Given the description of an element on the screen output the (x, y) to click on. 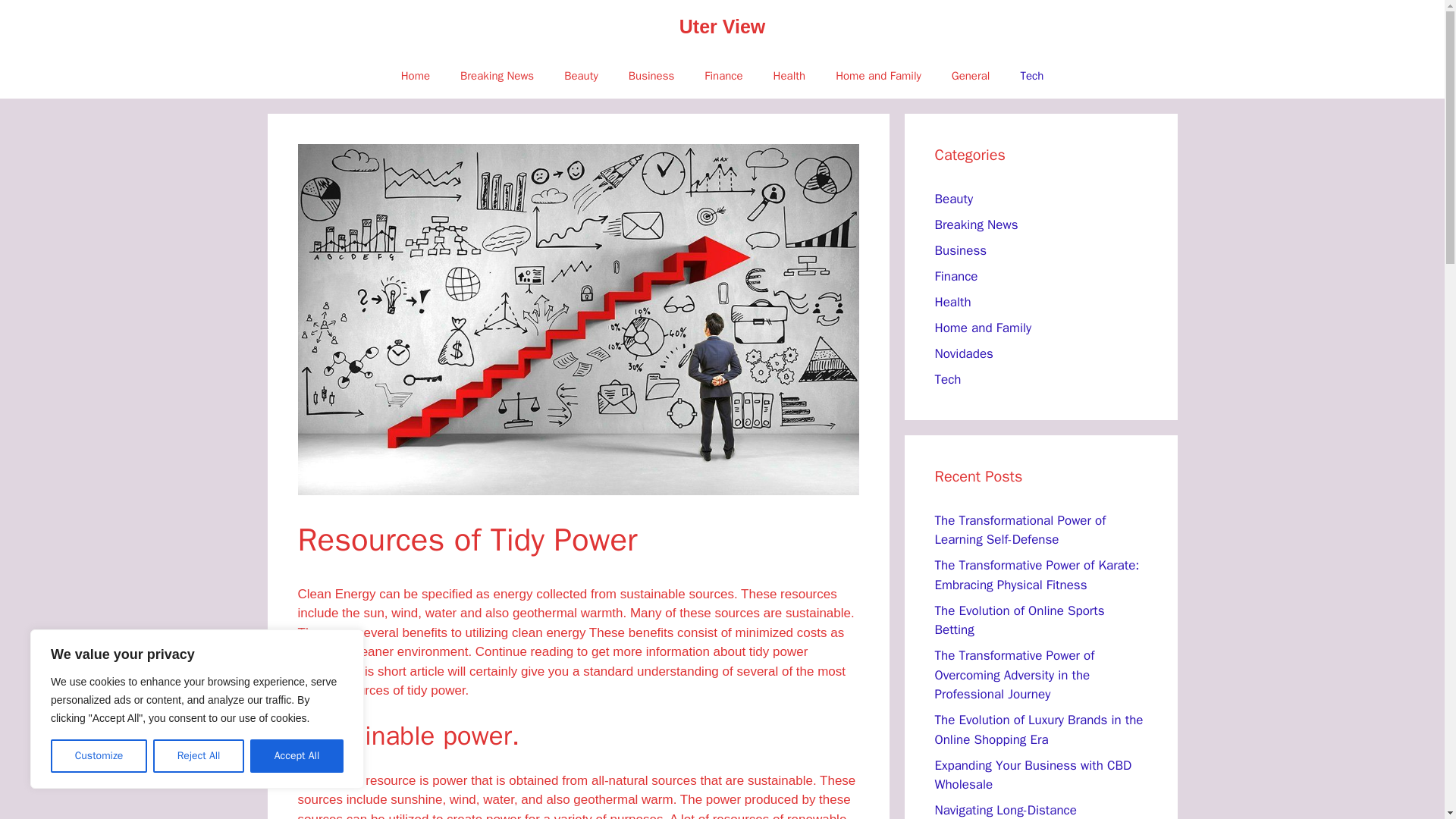
Finance (955, 276)
Tech (1031, 75)
Beauty (953, 198)
Breaking News (496, 75)
Finance (722, 75)
Health (952, 302)
General (971, 75)
Customize (98, 756)
Reject All (198, 756)
Breaking News (975, 224)
Home and Family (878, 75)
Home and Family (982, 327)
Business (651, 75)
Novidades (963, 353)
The Transformational Power of Learning Self-Defense (1019, 529)
